Given the description of an element on the screen output the (x, y) to click on. 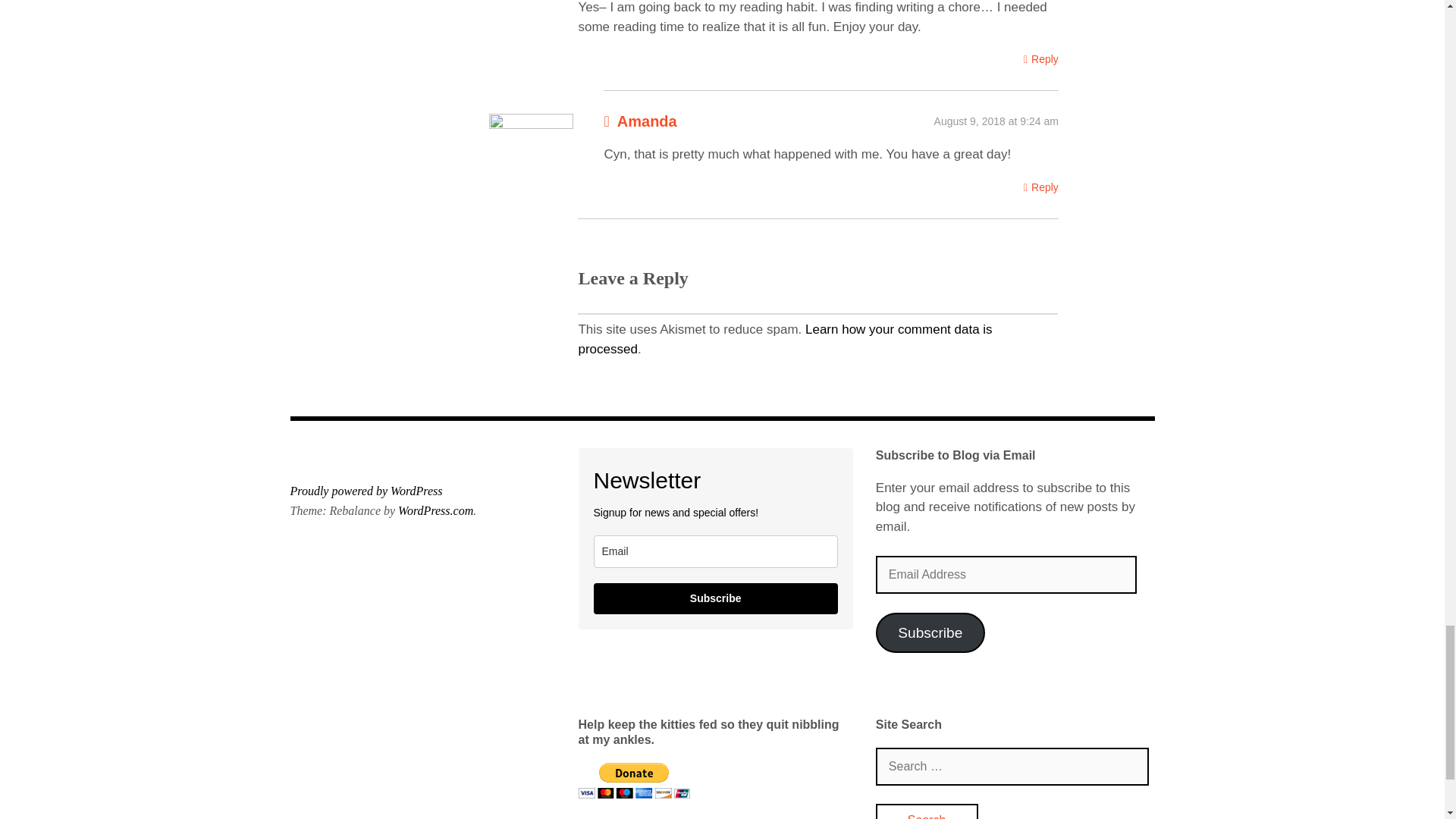
Search (927, 811)
Search (927, 811)
Amanda (647, 121)
Reply (1040, 59)
August 9, 2018 at 9:24 am (996, 121)
